Given the description of an element on the screen output the (x, y) to click on. 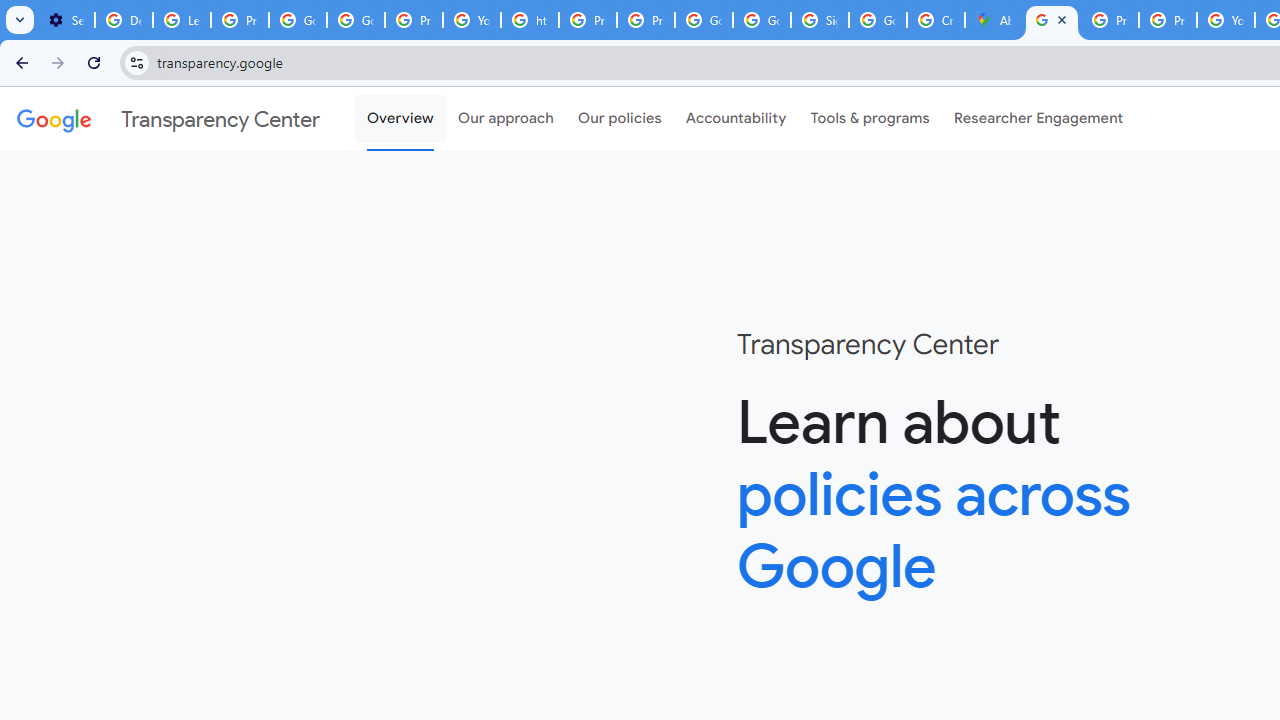
Transparency Center (167, 119)
Our policies (619, 119)
Sign in - Google Accounts (819, 20)
